Given the description of an element on the screen output the (x, y) to click on. 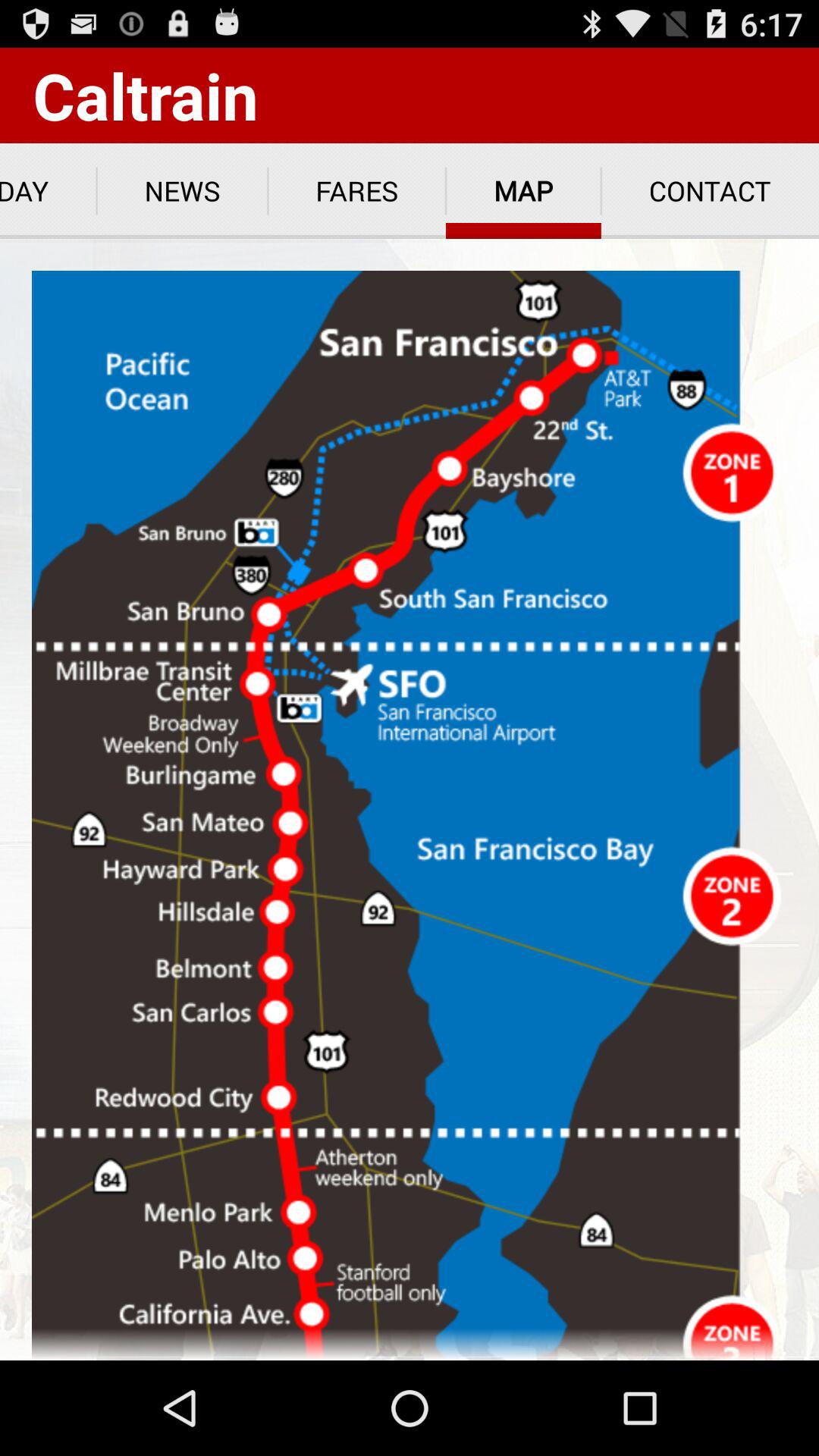
launch news app (181, 190)
